Given the description of an element on the screen output the (x, y) to click on. 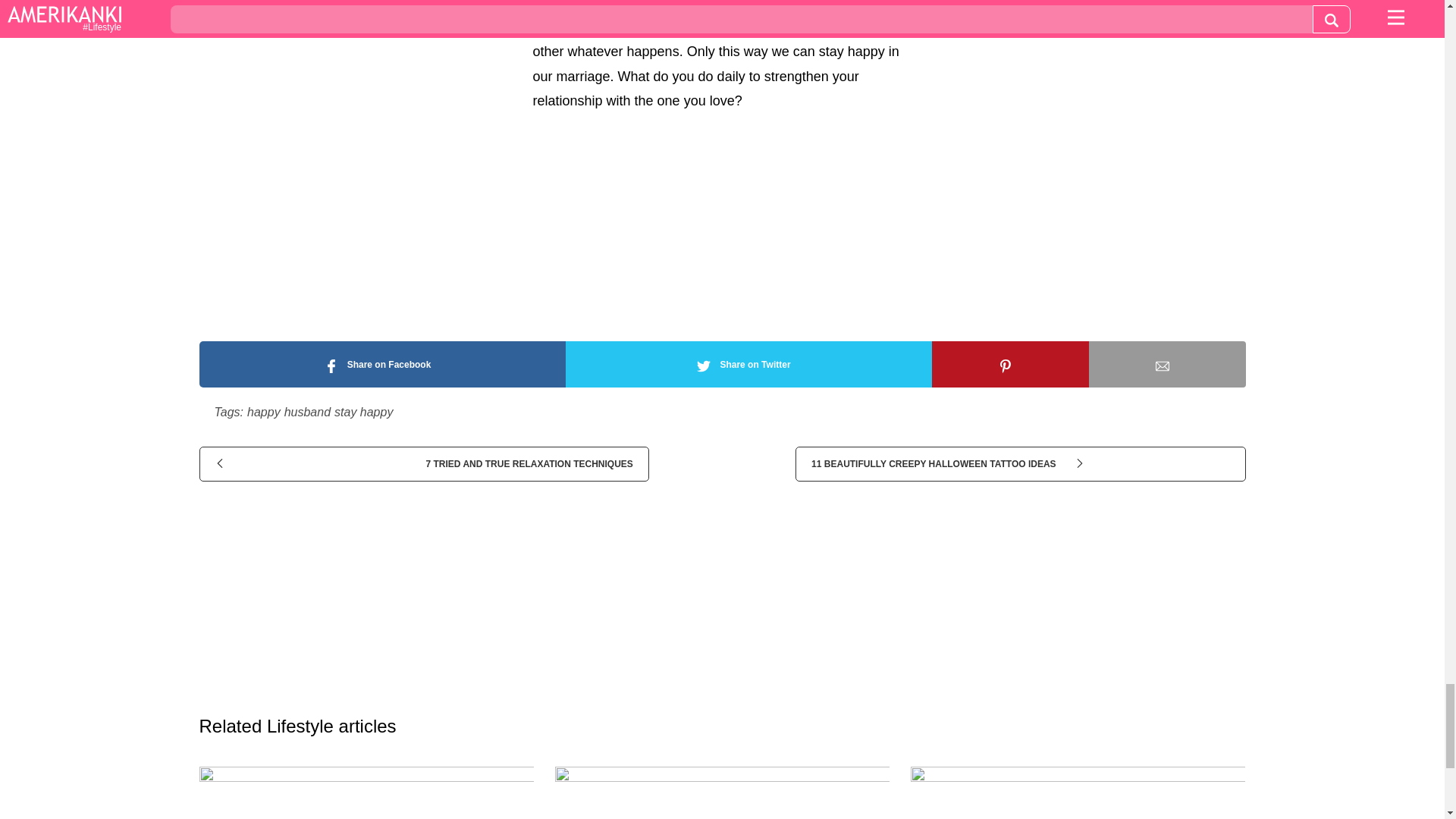
Share on Twitter (748, 364)
7 Must-Have Qualities to Look for in Your Future Husband (721, 792)
7 Tried and True Relaxation Techniques (422, 463)
Share on Facebook (381, 364)
7 TRIED AND TRUE RELAXATION TECHNIQUES (422, 463)
11 Beautifully Creepy Halloween Tattoo Ideas (1019, 463)
11 BEAUTIFULLY CREEPY HALLOWEEN TATTOO IDEAS (1019, 463)
